Given the description of an element on the screen output the (x, y) to click on. 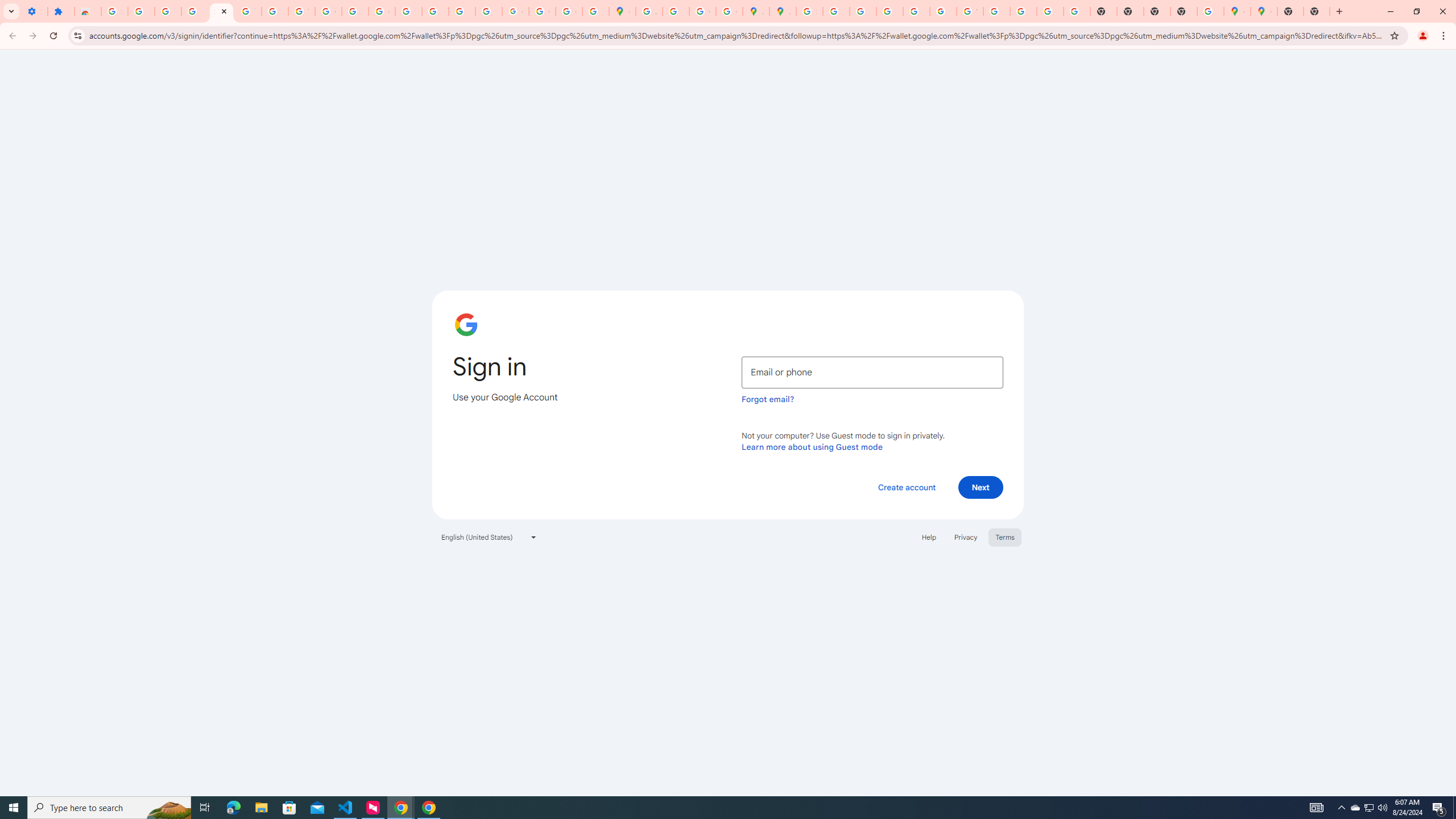
Use Google Maps in Space - Google Maps Help (1210, 11)
Create account (905, 486)
Learn more about using Guest mode (812, 446)
